Given the description of an element on the screen output the (x, y) to click on. 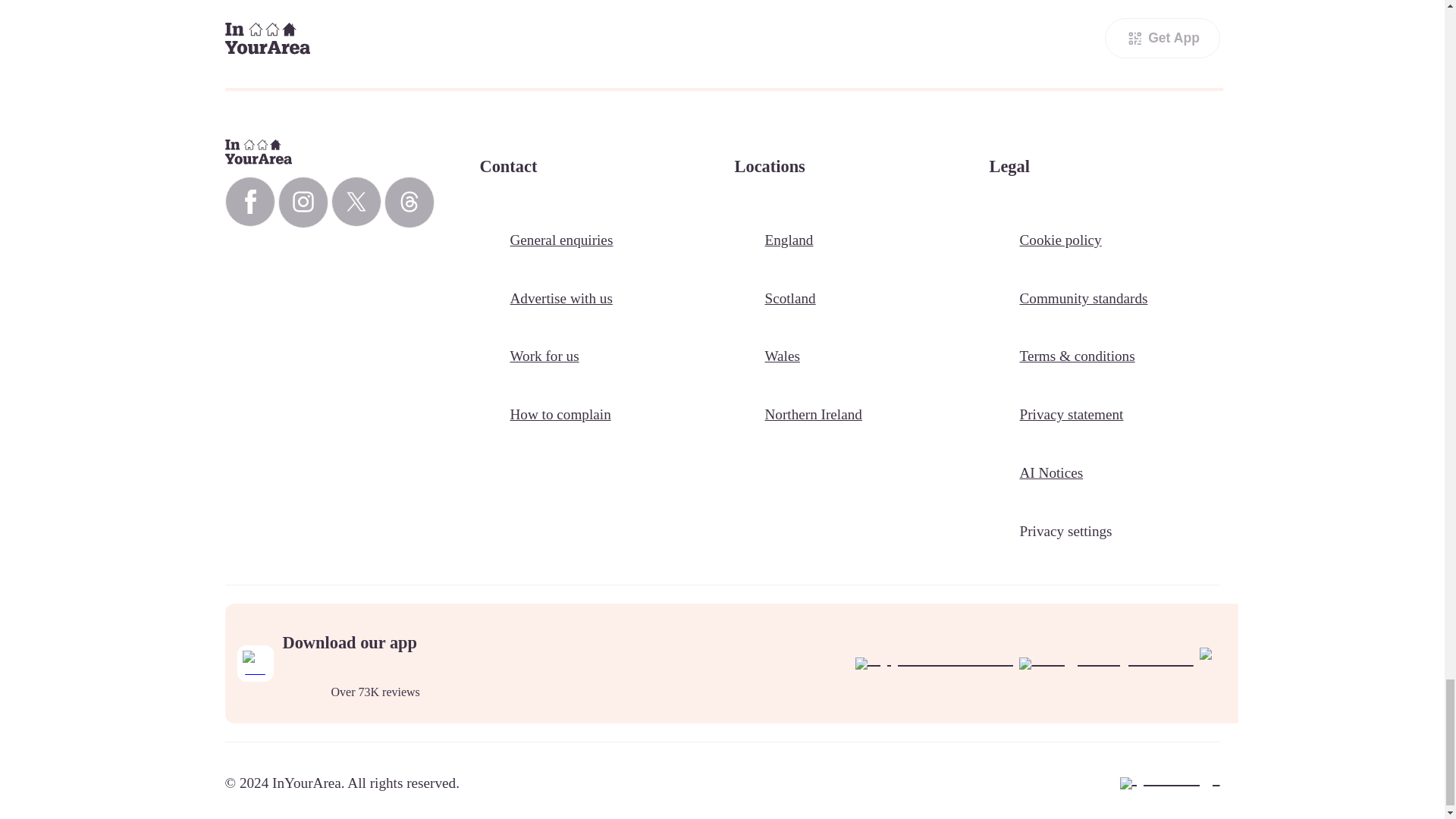
InYourArea X (355, 201)
InYourArea Threads (408, 202)
InYourArea Instagram (302, 202)
InYourArea Facebook (249, 201)
